Given the description of an element on the screen output the (x, y) to click on. 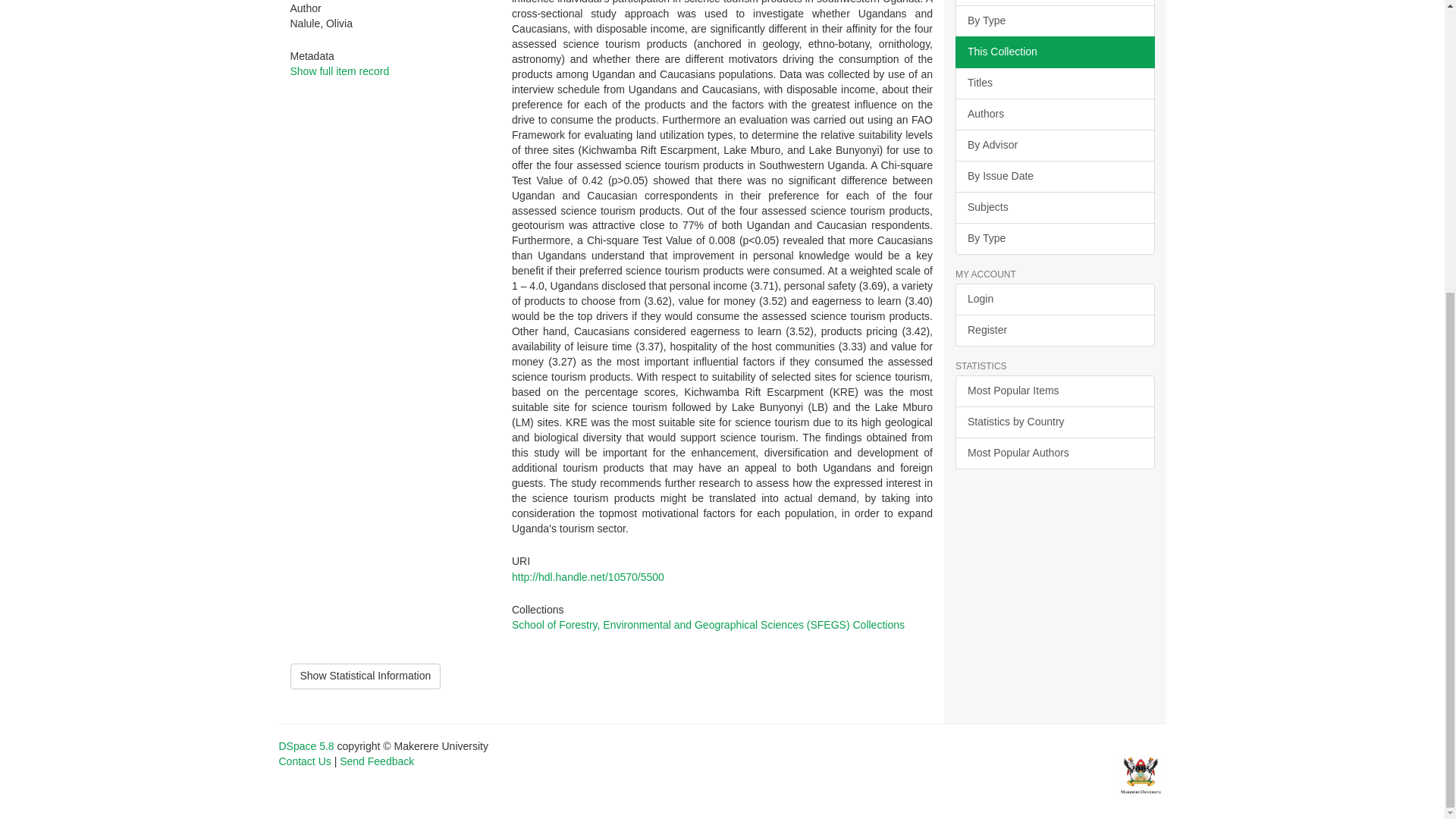
By Issue Date (1054, 176)
Show Statistical Information (365, 676)
Titles (1054, 83)
By Advisor (1054, 145)
This Collection (1054, 51)
Show full item record (338, 70)
By Type (1054, 20)
Authors (1054, 114)
Subjects (1054, 2)
Atmire NV (1141, 774)
